Given the description of an element on the screen output the (x, y) to click on. 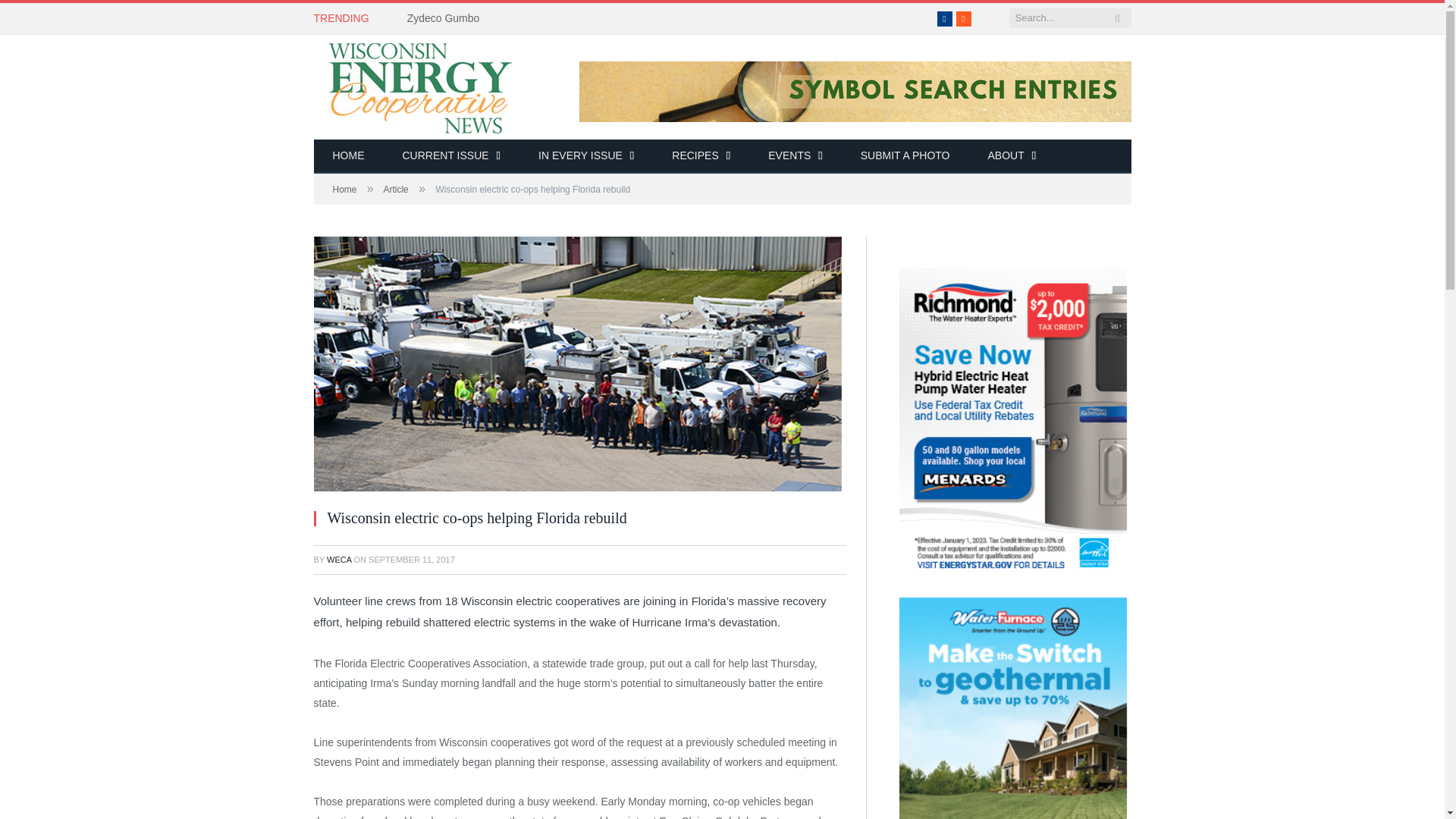
Zydeco Gumbo (447, 18)
2017-09-11 (411, 559)
EVENTS (795, 156)
RSS (963, 18)
Article (394, 189)
Zydeco Gumbo (447, 18)
ABOUT (1012, 156)
Home (343, 189)
Facebook (944, 18)
Posts by WECA (338, 559)
IN EVERY ISSUE (585, 156)
HOME (349, 156)
Wisconsin Electric Cooperative News (418, 85)
